Given the description of an element on the screen output the (x, y) to click on. 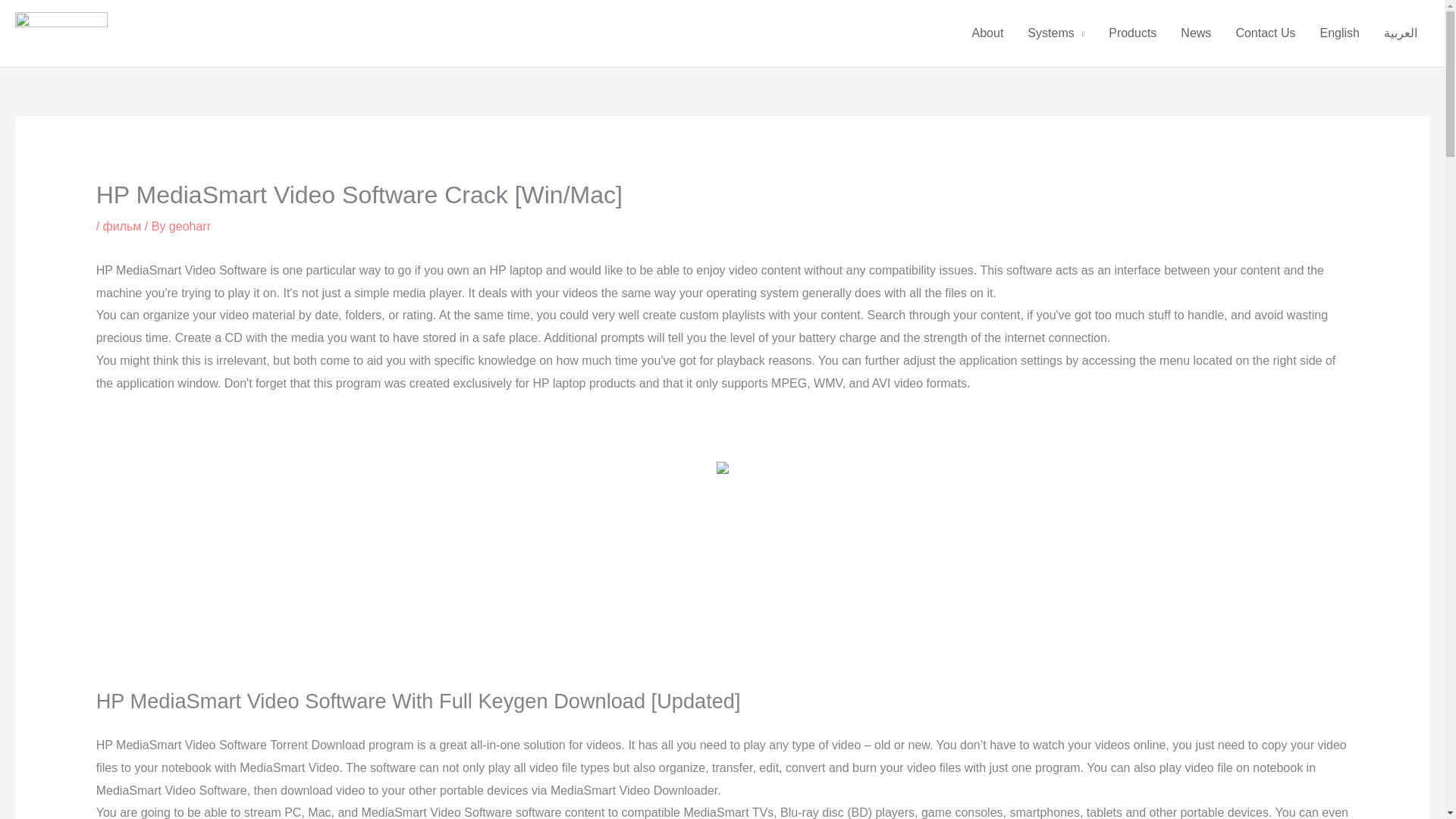
Systems (1055, 33)
View all posts by geoharr (189, 226)
About (987, 33)
